Given the description of an element on the screen output the (x, y) to click on. 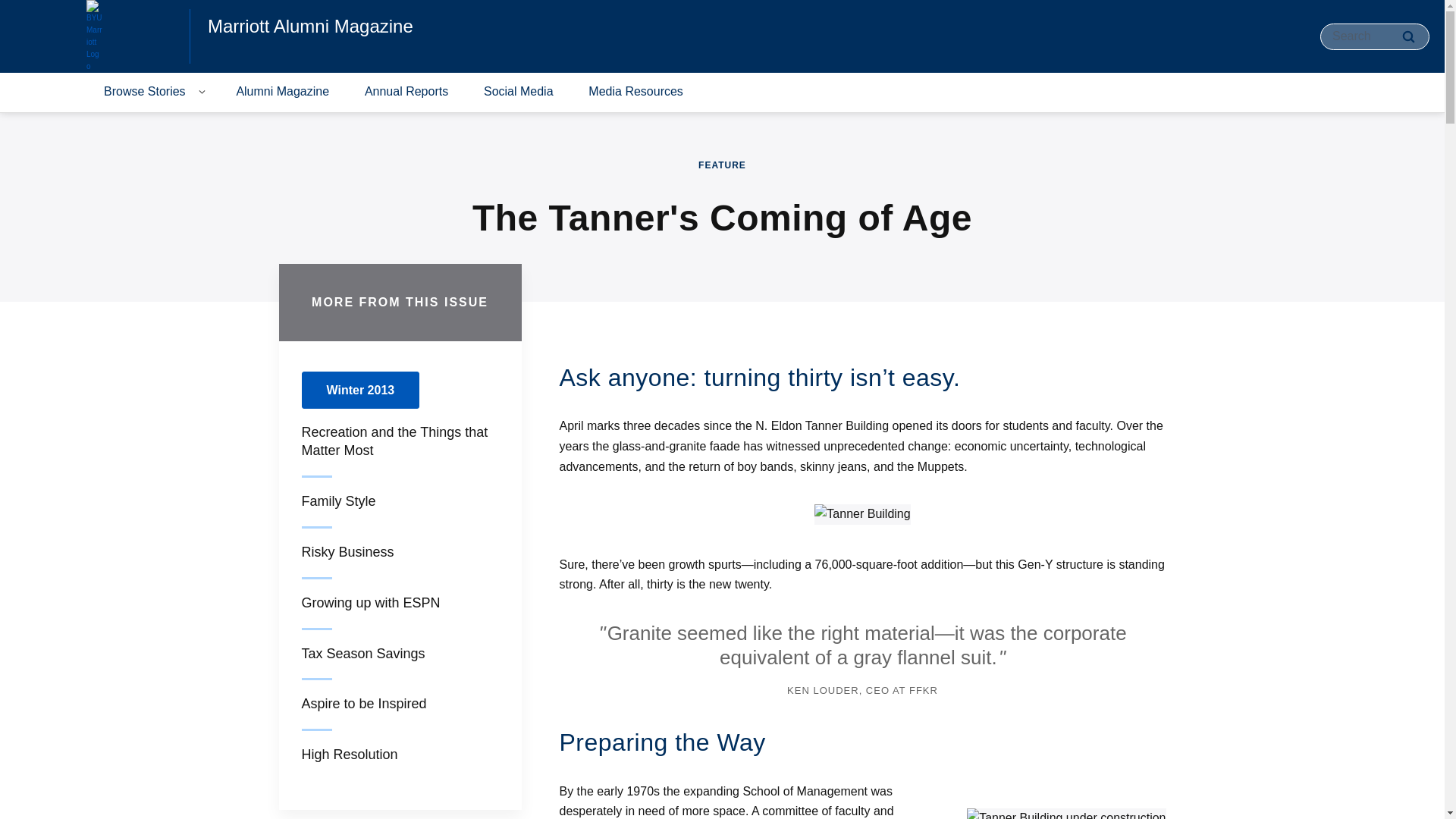
Recreation and the Things that Matter Most (394, 441)
Browse Stories (144, 92)
Family Style (338, 500)
Winter 2013 (360, 389)
Annual Reports (405, 92)
Social Media (518, 92)
Alumni Magazine (282, 92)
Media Resources (636, 92)
Search (1408, 35)
FEATURE (721, 165)
Marriott Alumni Magazine (310, 25)
Risky Business (347, 551)
